Given the description of an element on the screen output the (x, y) to click on. 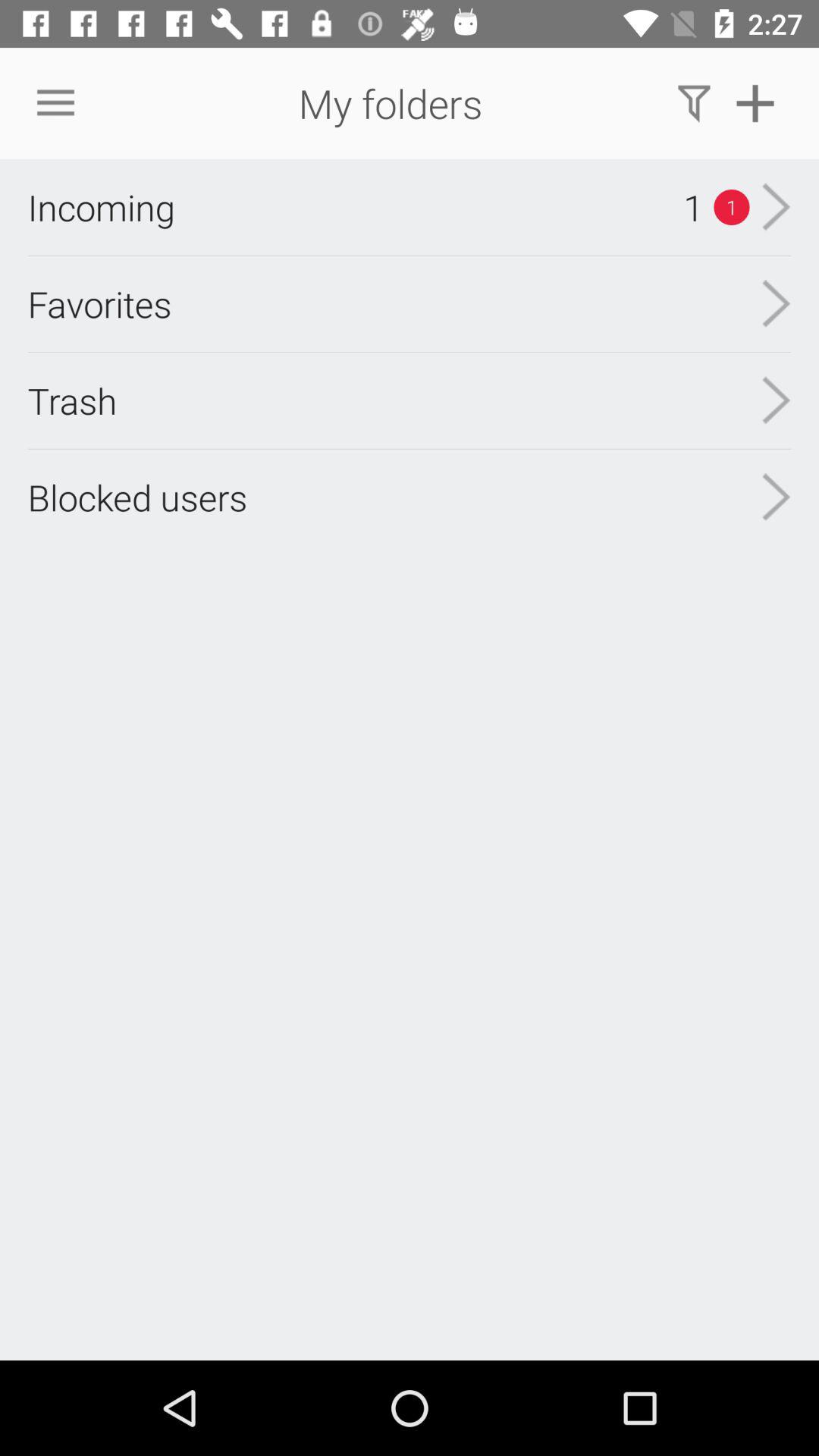
choose icon below the favorites (72, 400)
